Given the description of an element on the screen output the (x, y) to click on. 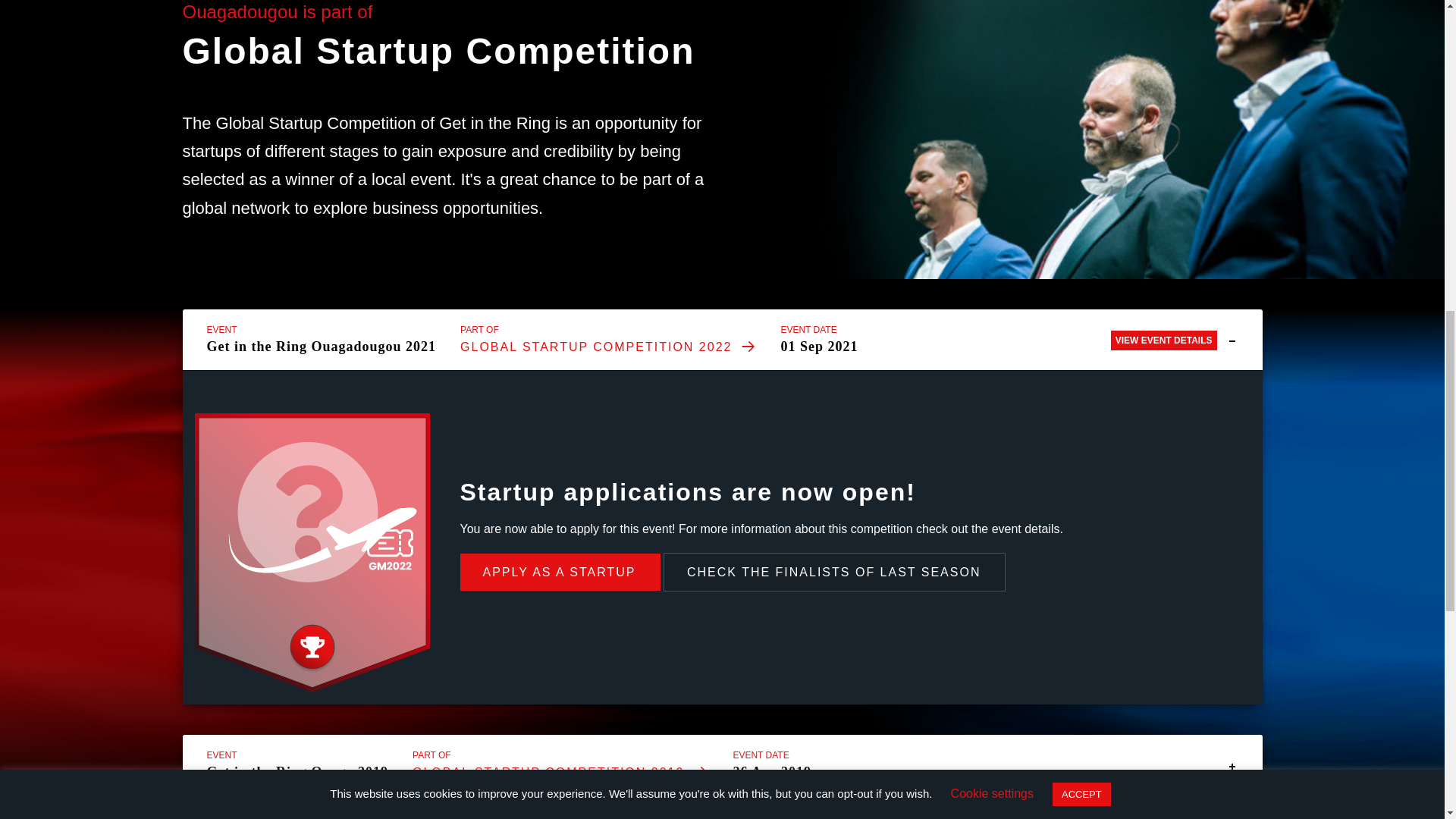
GLOBAL STARTUP COMPETITION 2019 (559, 772)
APPLY AS A STARTUP (559, 571)
CHECK THE FINALISTS OF LAST SEASON (834, 571)
VIEW EVENT DETAILS (1163, 340)
GLOBAL STARTUP COMPETITION 2022 (607, 346)
